Given the description of an element on the screen output the (x, y) to click on. 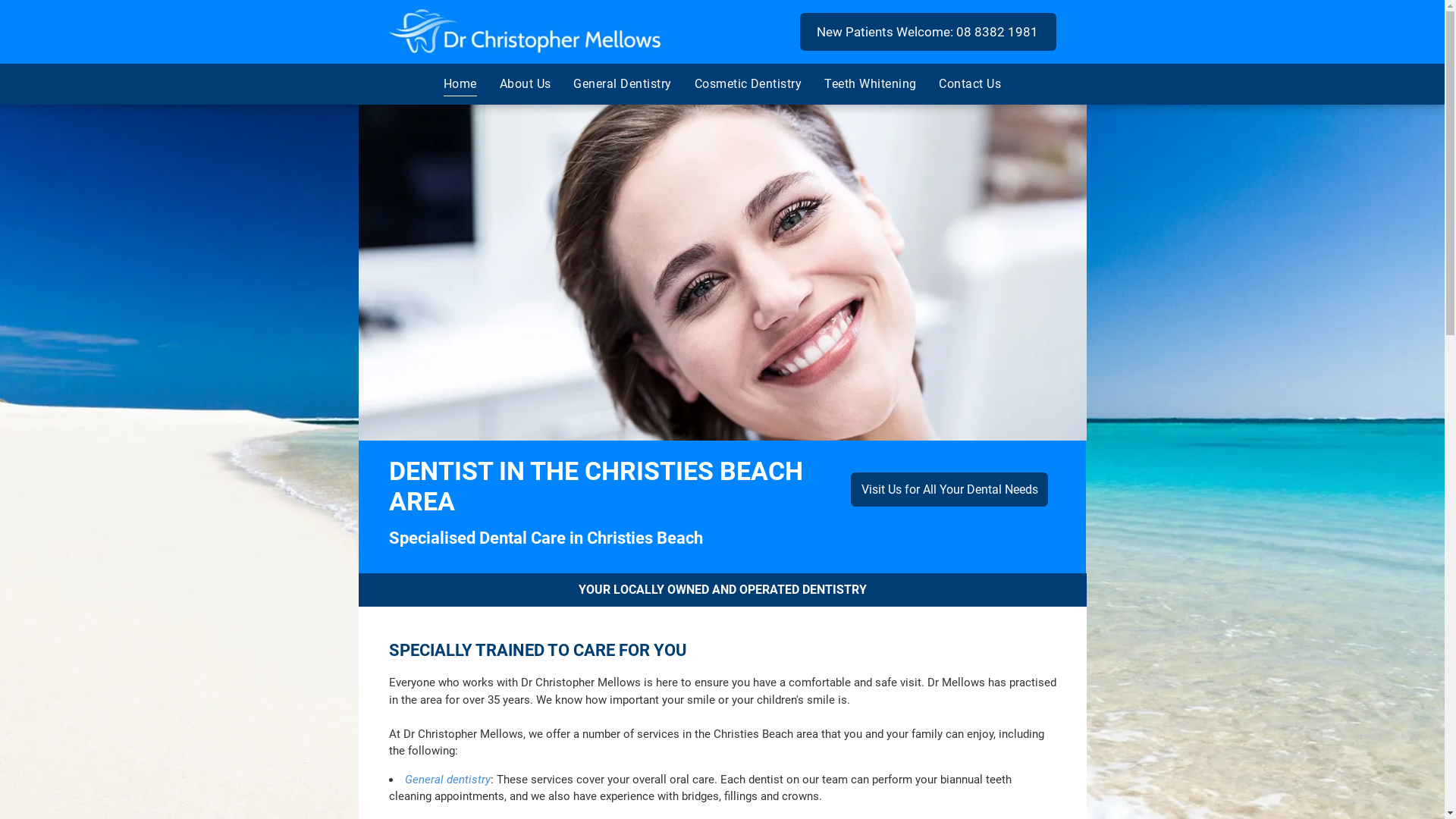
Teeth Whitening Element type: text (869, 83)
Visit Us for All Your Dental Needs Element type: text (949, 489)
General dentistry Element type: text (447, 779)
About Us Element type: text (525, 83)
Contact Us Element type: text (969, 83)
New Patients Welcome: 08 8382 1981 Element type: text (927, 31)
General Dentistry Element type: text (621, 83)
Home Element type: text (460, 83)
Cosmetic Dentistry Element type: text (748, 83)
